Given the description of an element on the screen output the (x, y) to click on. 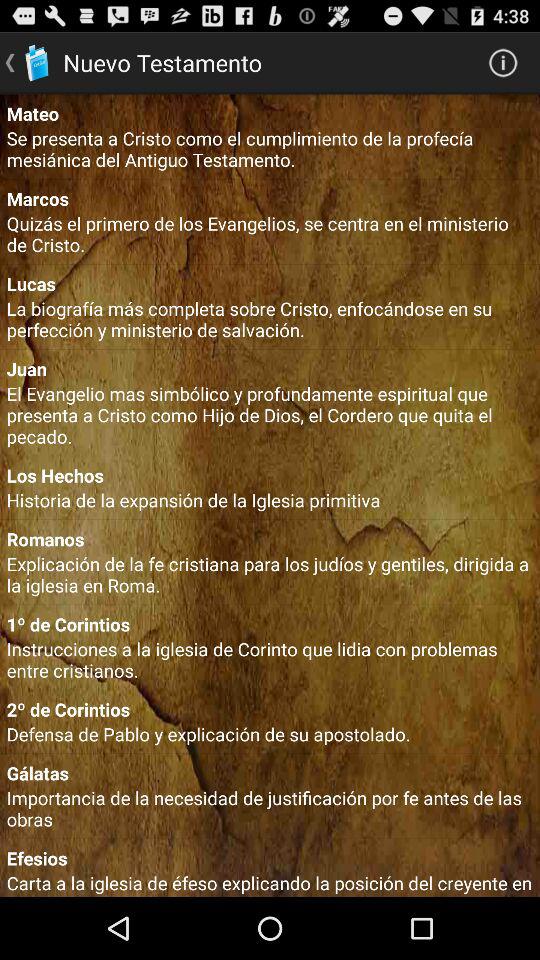
open the app below juan app (269, 414)
